Given the description of an element on the screen output the (x, y) to click on. 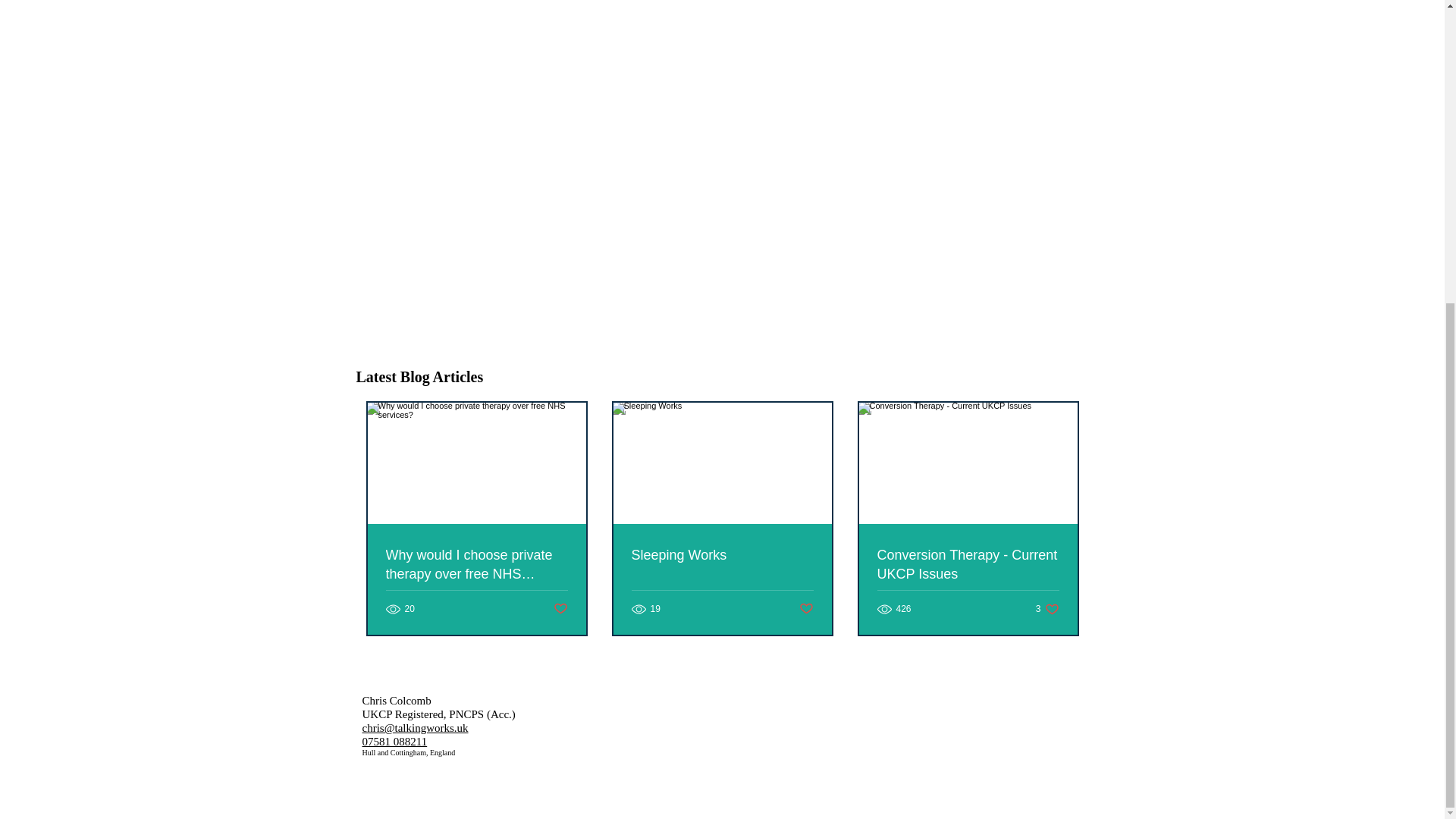
Sleeping Works (721, 555)
Post not marked as liked (560, 609)
Post not marked as liked (806, 609)
07581 088211 (395, 741)
Conversion Therapy - Current UKCP Issues (1047, 608)
Why would I choose private therapy over free NHS services? (967, 564)
